Given the description of an element on the screen output the (x, y) to click on. 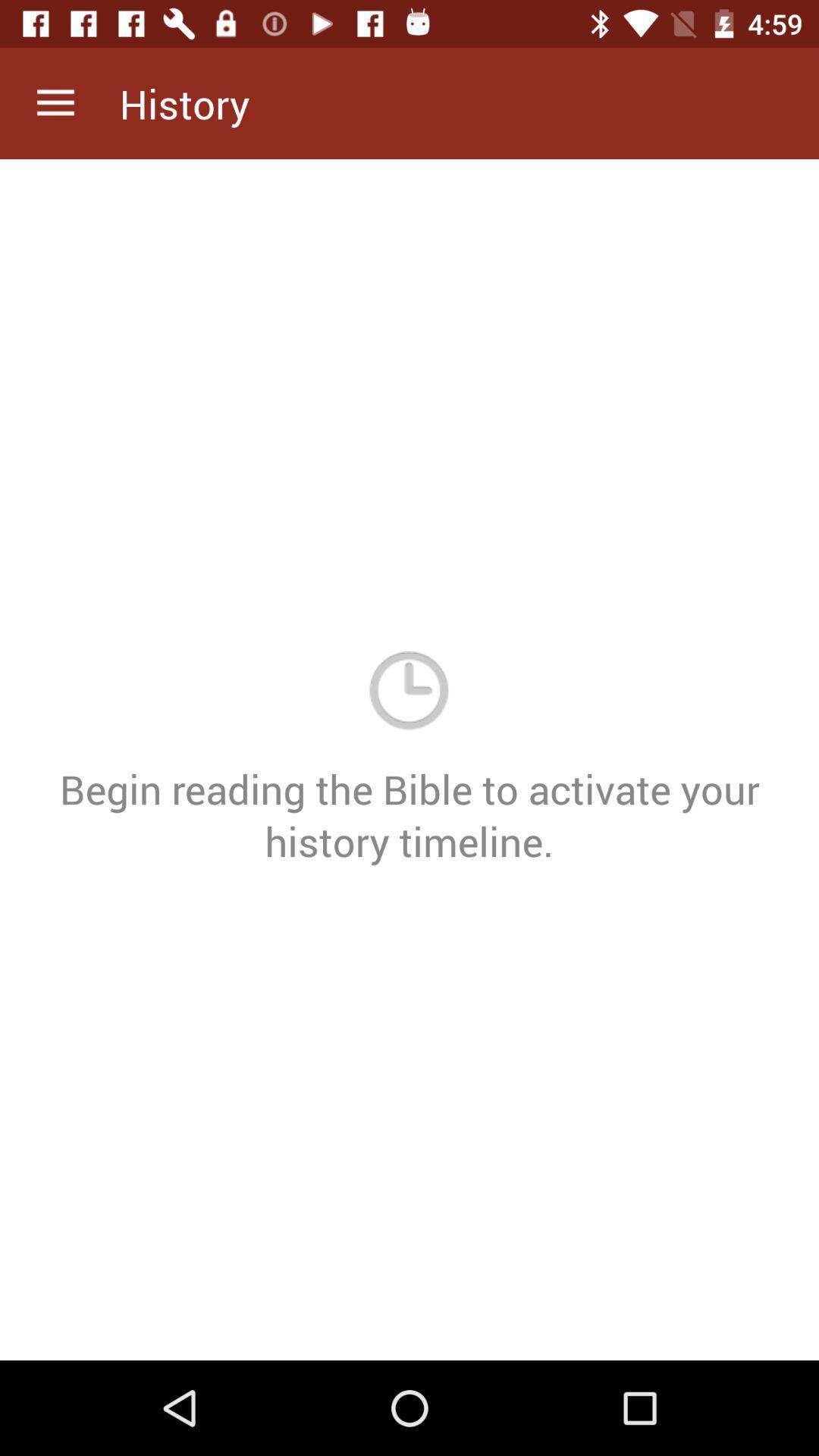
turn off the icon next to history icon (55, 103)
